Given the description of an element on the screen output the (x, y) to click on. 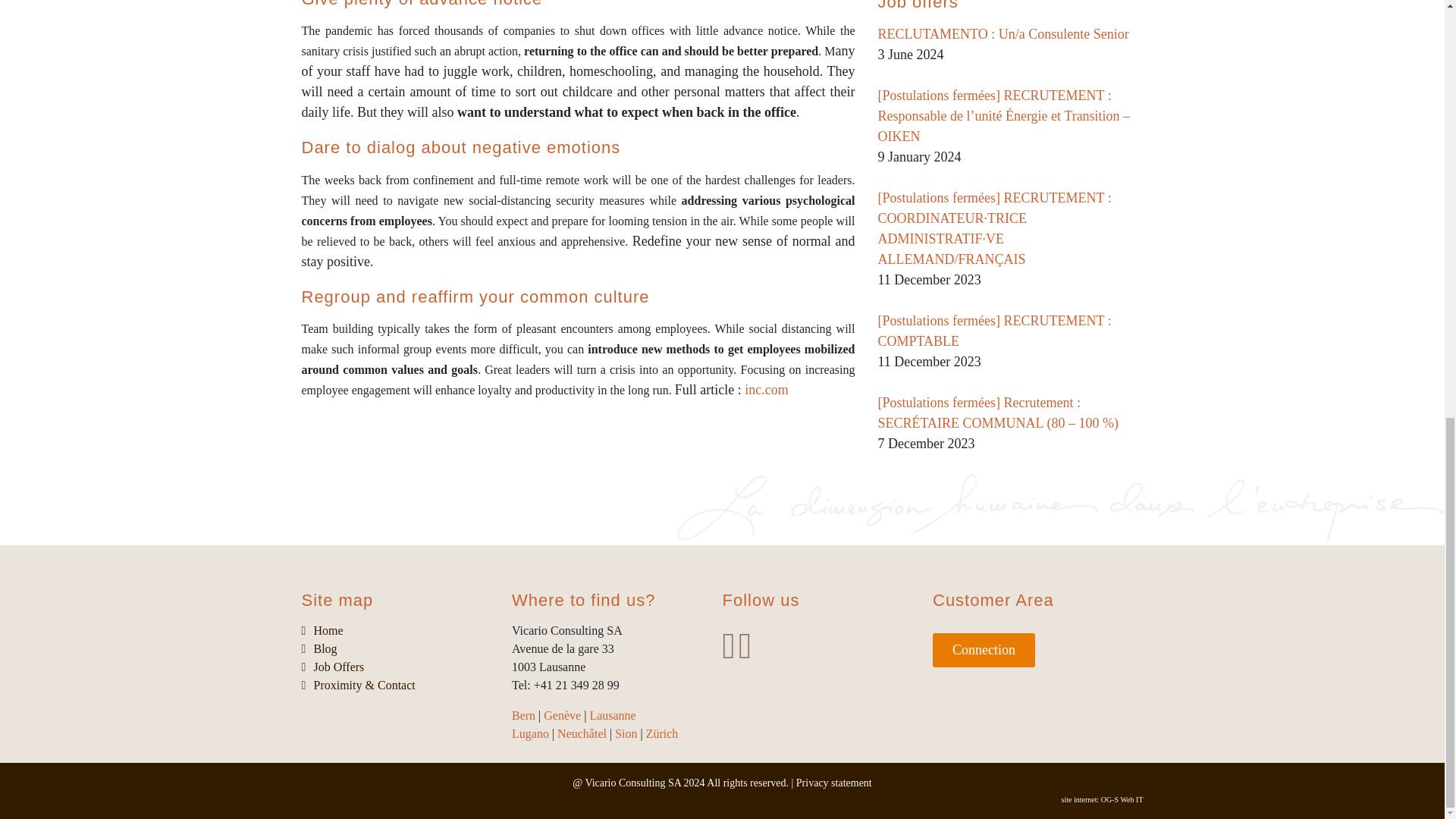
Job Offers (339, 666)
Vicario Consulting SA (633, 782)
Home (328, 630)
Blog (325, 648)
inc.com (765, 389)
OG-S Web IT (721, 799)
